Given the description of an element on the screen output the (x, y) to click on. 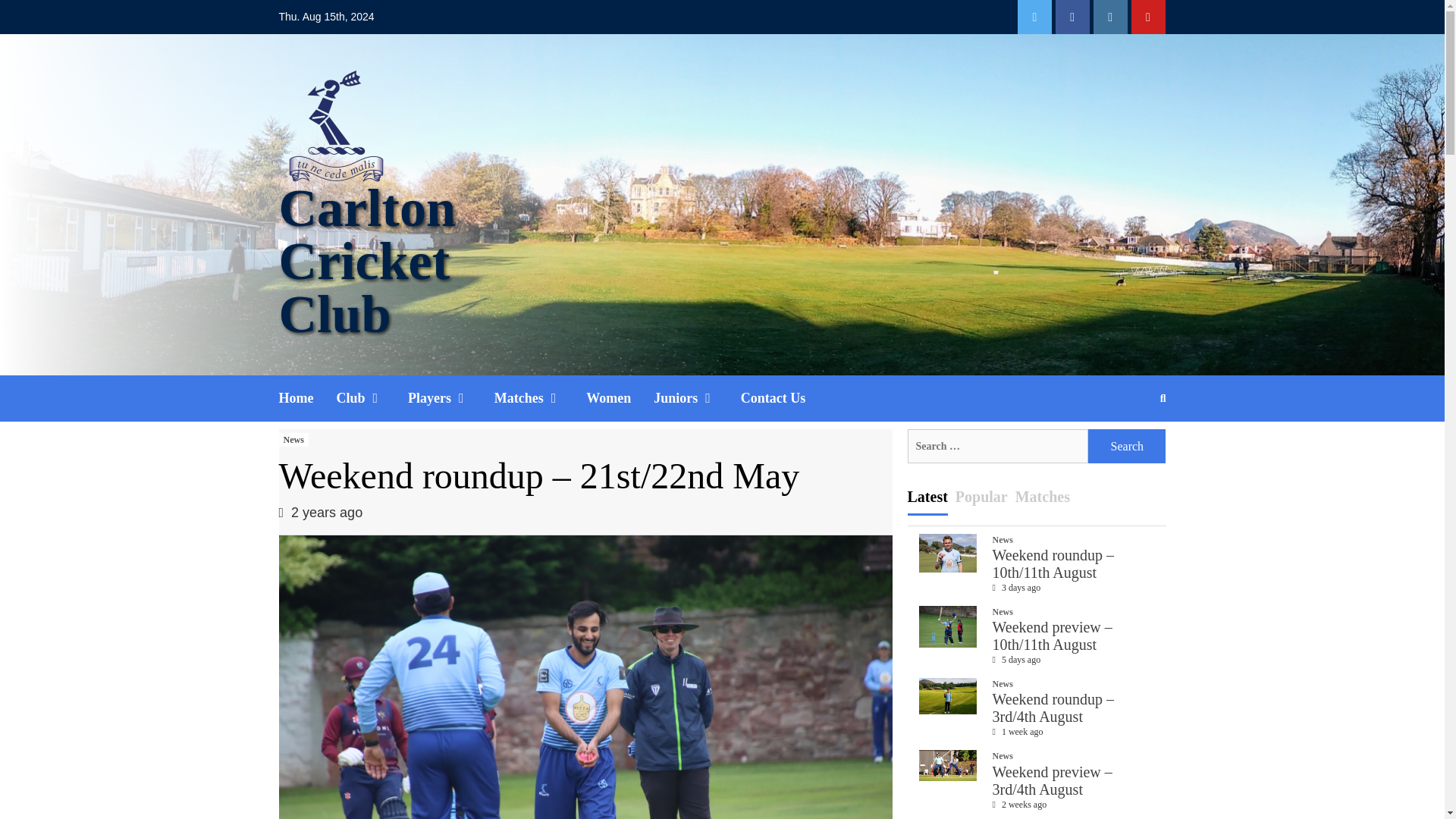
Club (371, 398)
Search (1126, 446)
Players (451, 398)
Home (307, 398)
Facebook (1072, 17)
Twitter (1034, 17)
Search (1126, 446)
Matches (540, 398)
Carlton Cricket Club (367, 261)
Instagram (1109, 17)
